Given the description of an element on the screen output the (x, y) to click on. 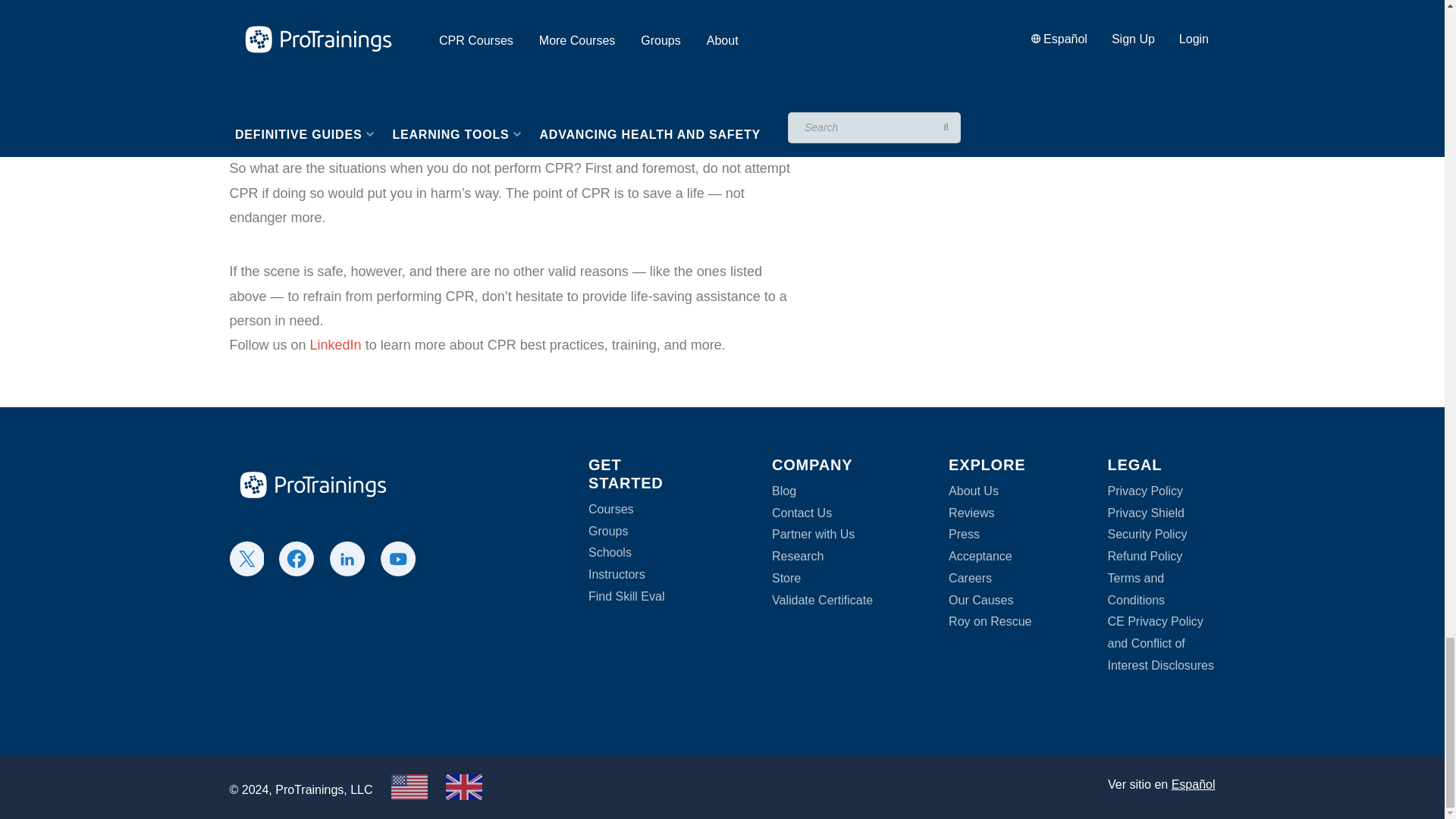
LinkedIn (335, 344)
